Given the description of an element on the screen output the (x, y) to click on. 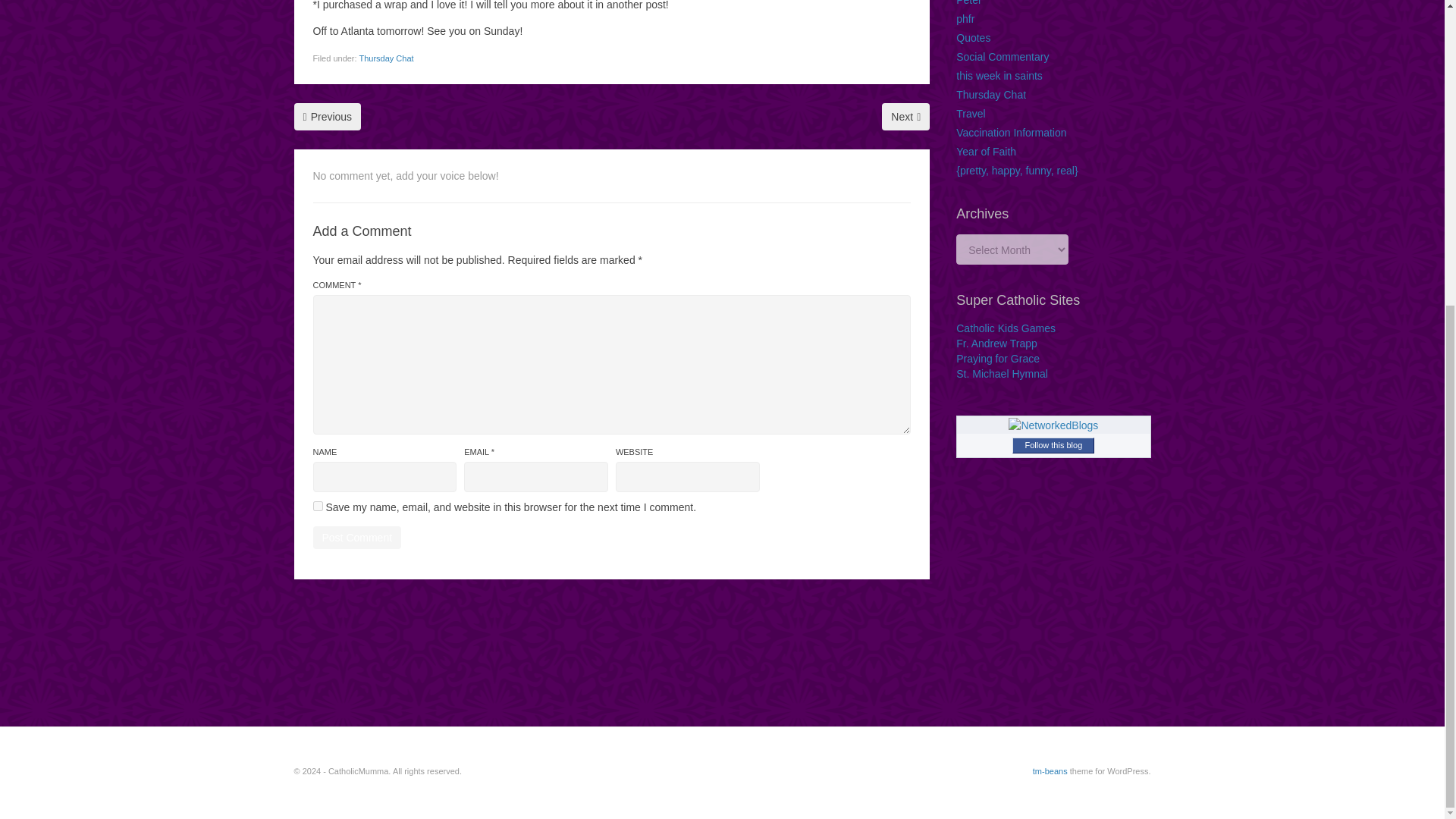
Thursday Chat (991, 94)
Next (906, 116)
yes (317, 506)
Catholic Kids Games (1005, 328)
Post Comment (357, 537)
St. Michael Hymnal (1002, 373)
this week in saints (999, 75)
Thursday Chat (385, 58)
Vaccination Information (1010, 132)
Quotes (973, 37)
Previous (327, 116)
Follow this blog (1052, 445)
NetworkedBlogs (1053, 424)
Year of Faith (986, 151)
Social Commentary (1002, 56)
